Given the description of an element on the screen output the (x, y) to click on. 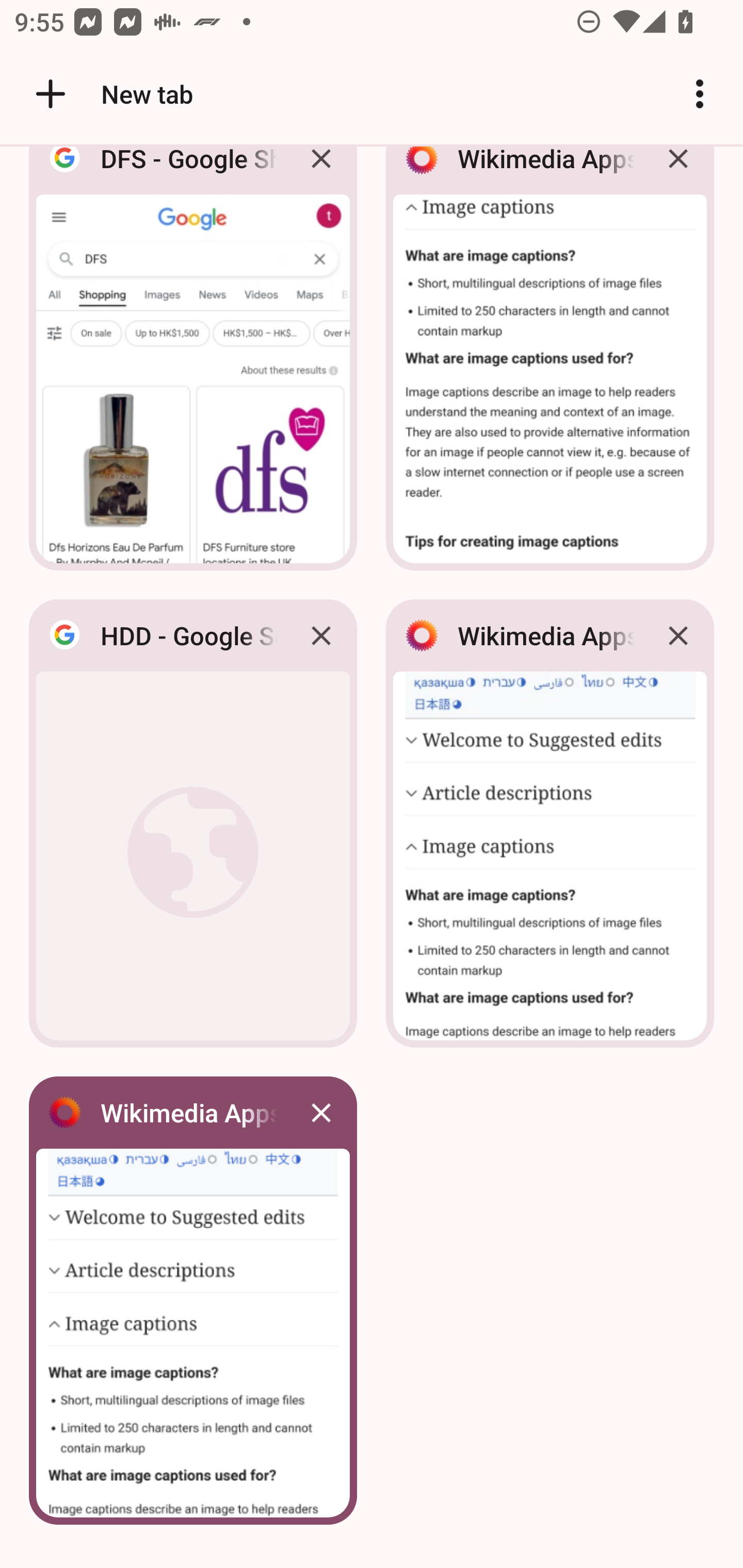
New tab (111, 93)
Customize and control Google Chrome (699, 93)
Close DFS - Google Shopping tab (320, 173)
Close HDD - Google Search tab (320, 635)
